Given the description of an element on the screen output the (x, y) to click on. 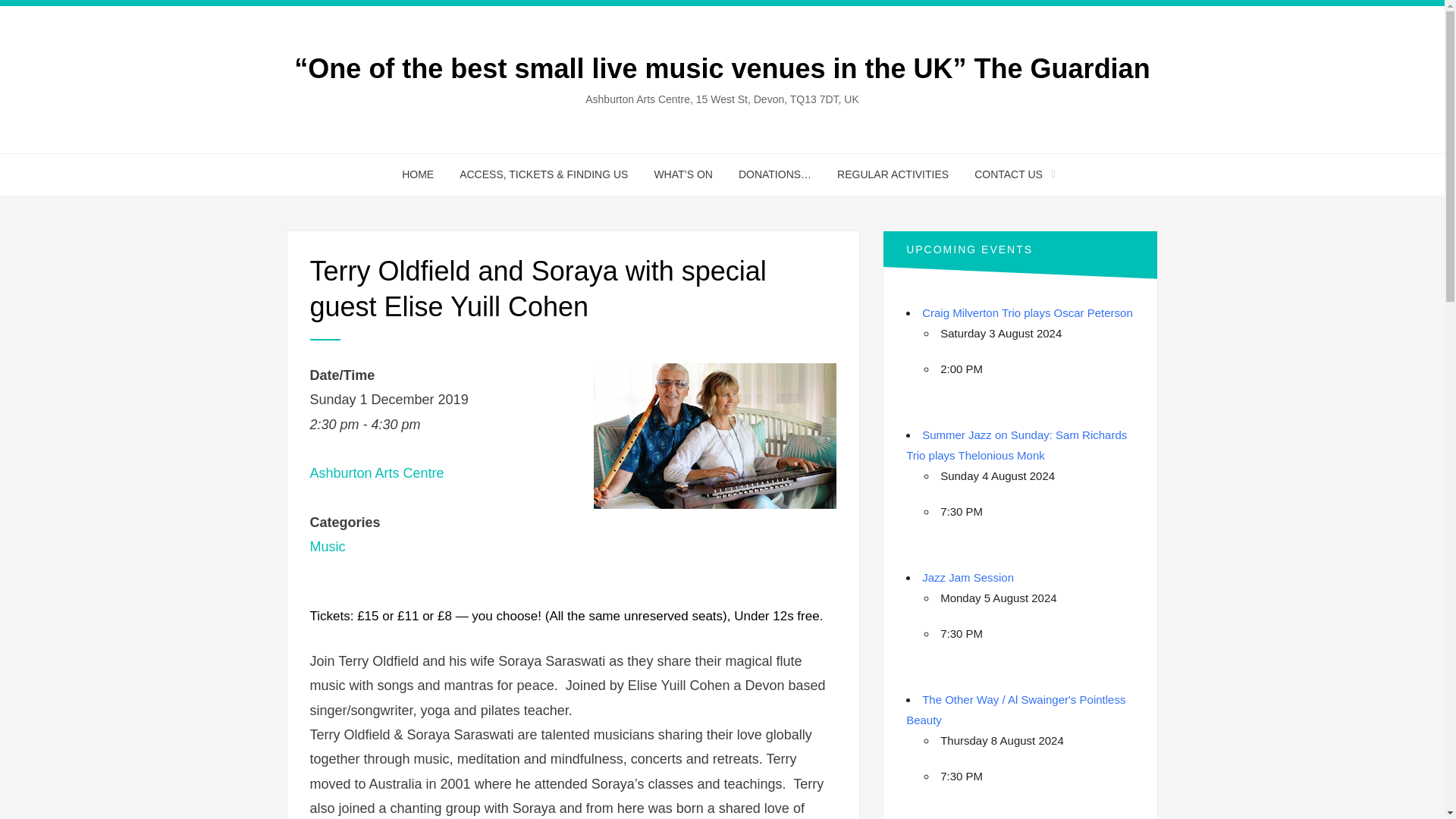
CONTACT US (1007, 174)
Ashburton Arts Centre (376, 473)
Craig Milverton Trio plays Oscar Peterson (1026, 312)
Music (326, 546)
REGULAR ACTIVITIES (892, 174)
HOME (417, 174)
Jazz Jam Session (967, 576)
